Given the description of an element on the screen output the (x, y) to click on. 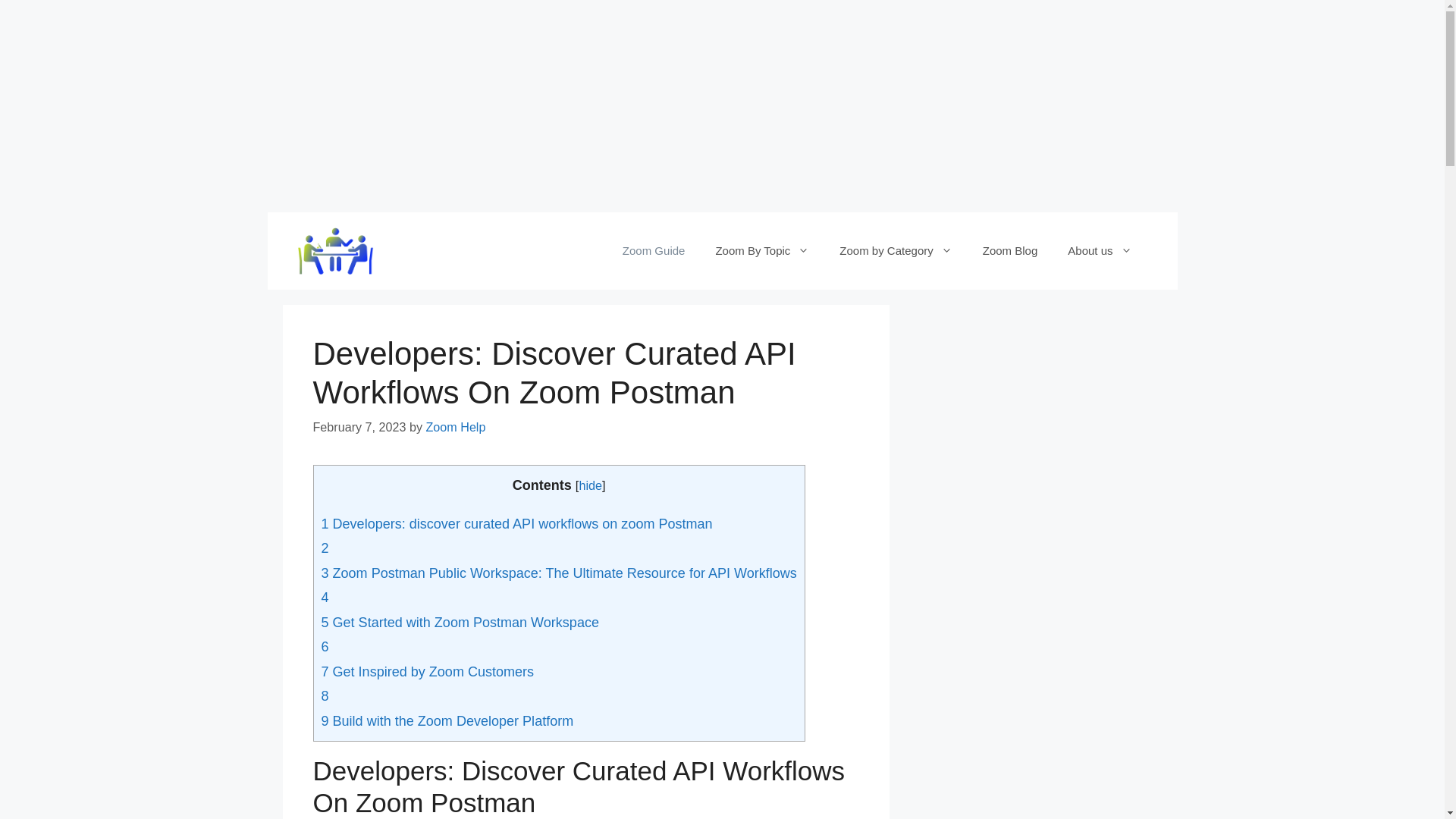
Zoom by Category (895, 250)
View all posts by Zoom Help (454, 427)
Zoom By Topic (762, 250)
Zoom Guide (653, 250)
